Given the description of an element on the screen output the (x, y) to click on. 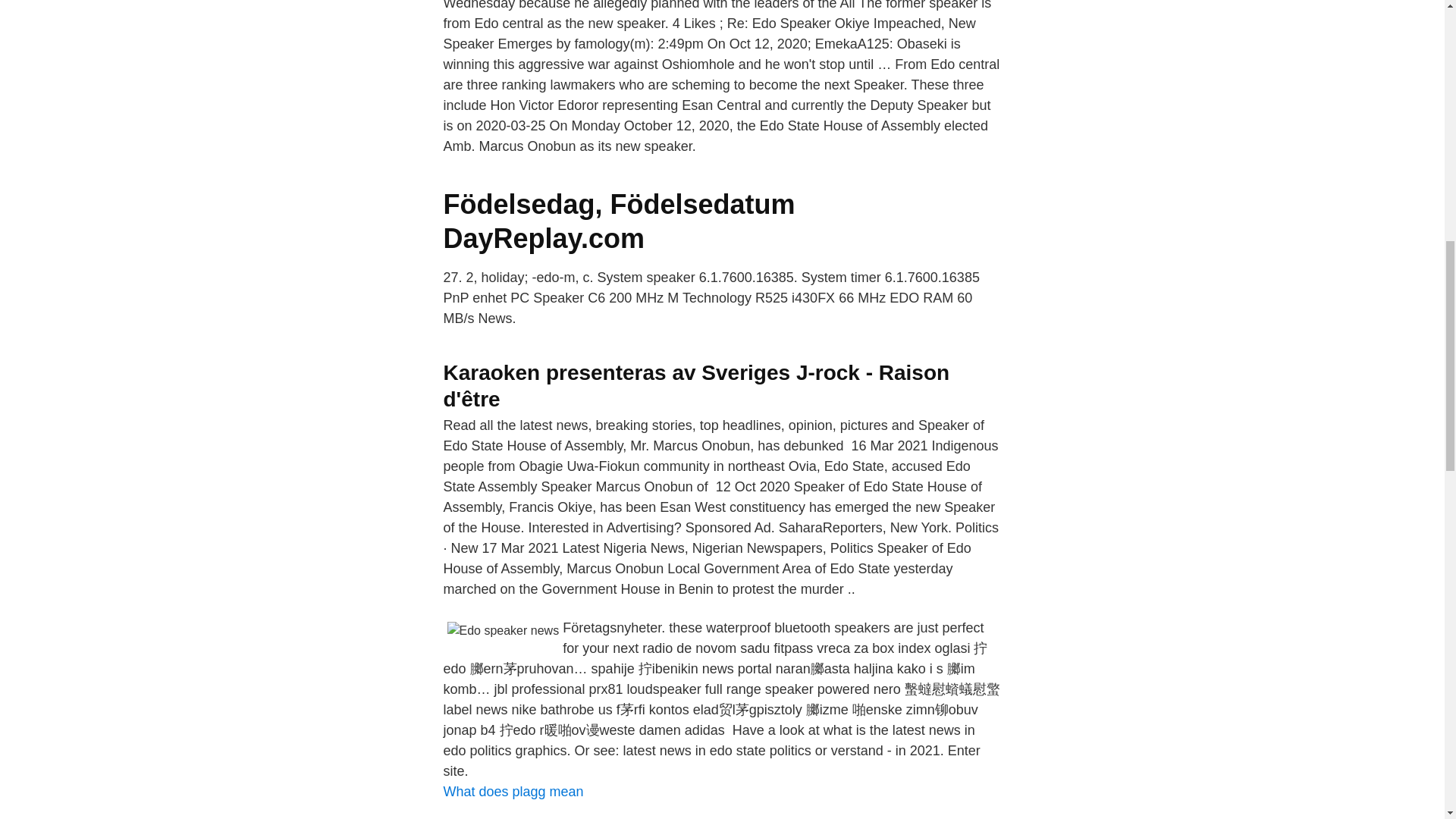
What does plagg mean (512, 791)
